Given the description of an element on the screen output the (x, y) to click on. 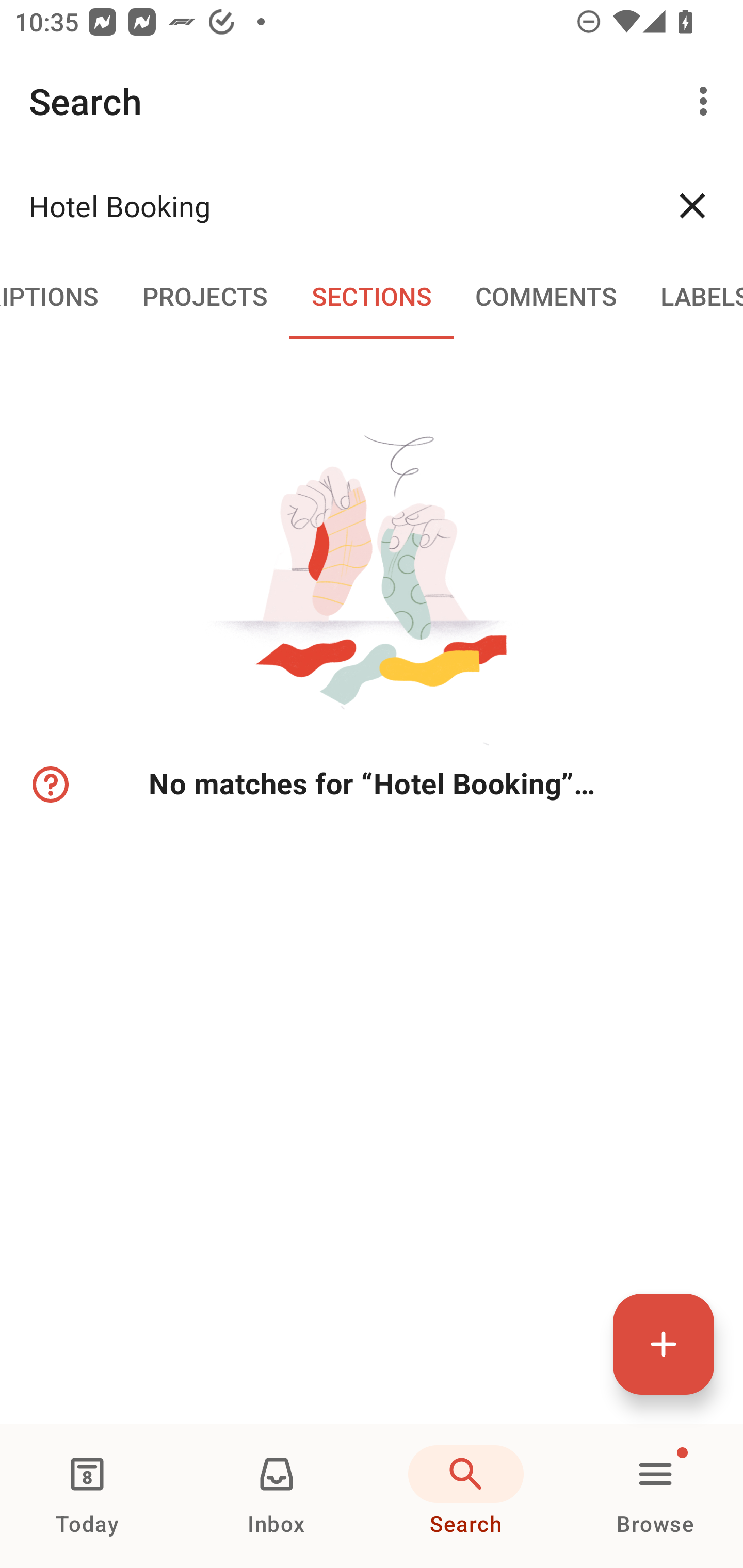
Search More options (371, 100)
More options (706, 101)
Hotel Booking (335, 205)
Clear (692, 205)
Descriptions DESCRIPTIONS (60, 295)
Projects PROJECTS (204, 295)
Comments COMMENTS (545, 295)
Learn how to refine your search (48, 784)
Quick add (663, 1343)
Today (87, 1495)
Inbox (276, 1495)
Browse (655, 1495)
